Given the description of an element on the screen output the (x, y) to click on. 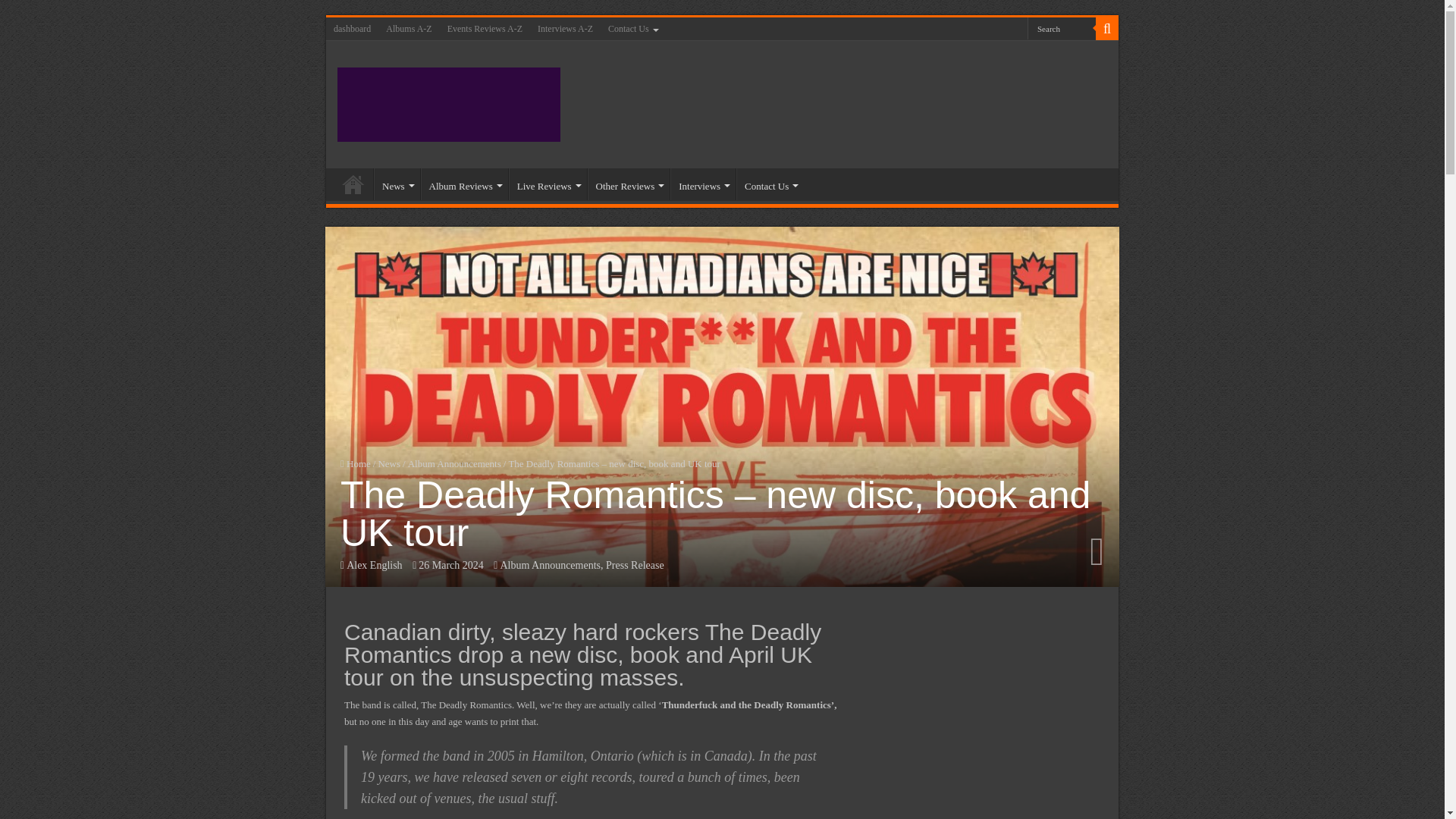
Search (1061, 28)
Live Reviews (547, 183)
Search (1061, 28)
dashboard (352, 28)
Album Reviews (464, 183)
Albums A-Z (408, 28)
News (397, 183)
PlanetMosh (448, 101)
Other Reviews (628, 183)
Home (352, 183)
